Given the description of an element on the screen output the (x, y) to click on. 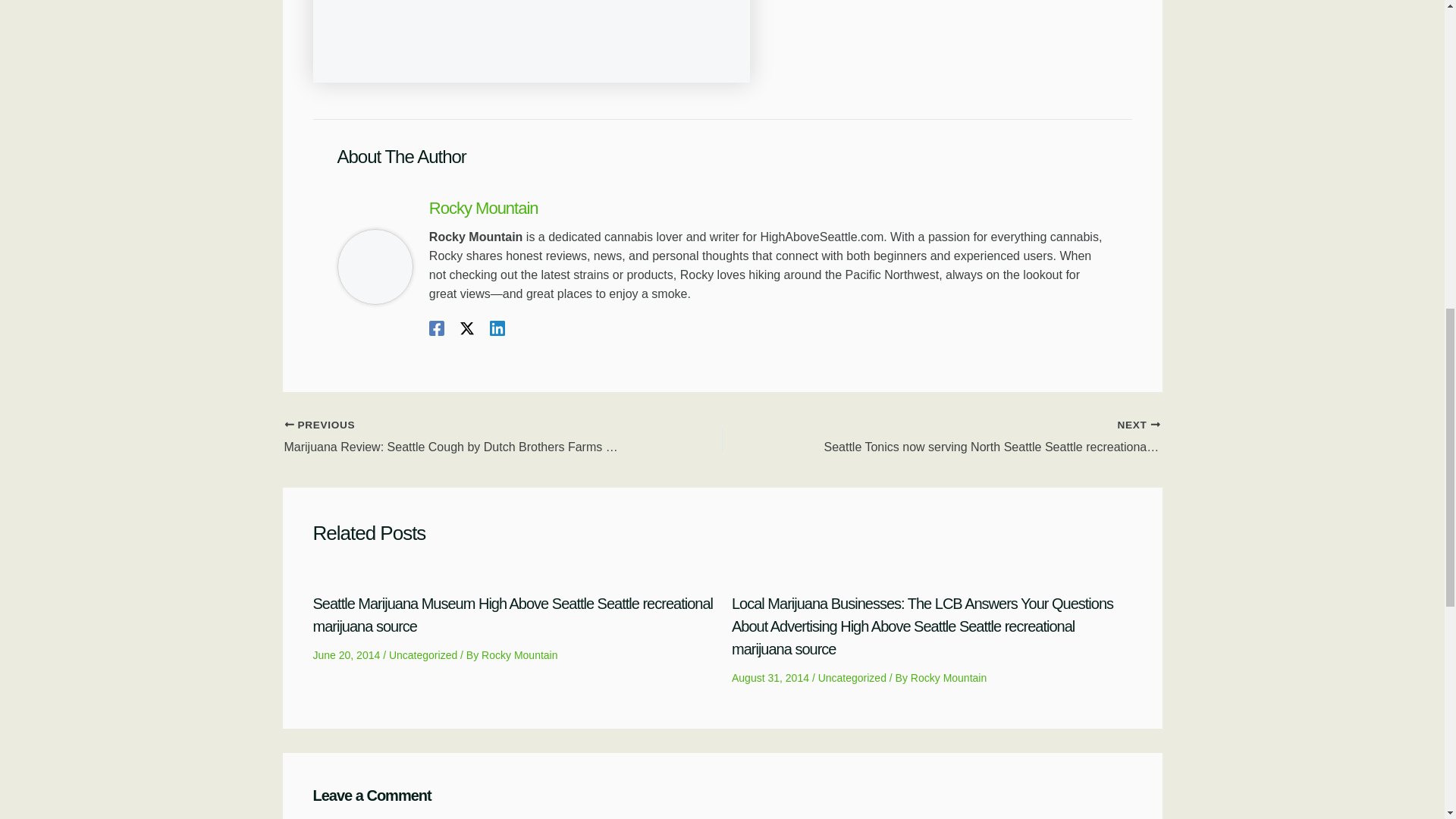
Uncategorized (852, 677)
Rocky Mountain (519, 654)
Rocky Mountain (768, 208)
View all posts by Rocky Mountain (949, 677)
